Given the description of an element on the screen output the (x, y) to click on. 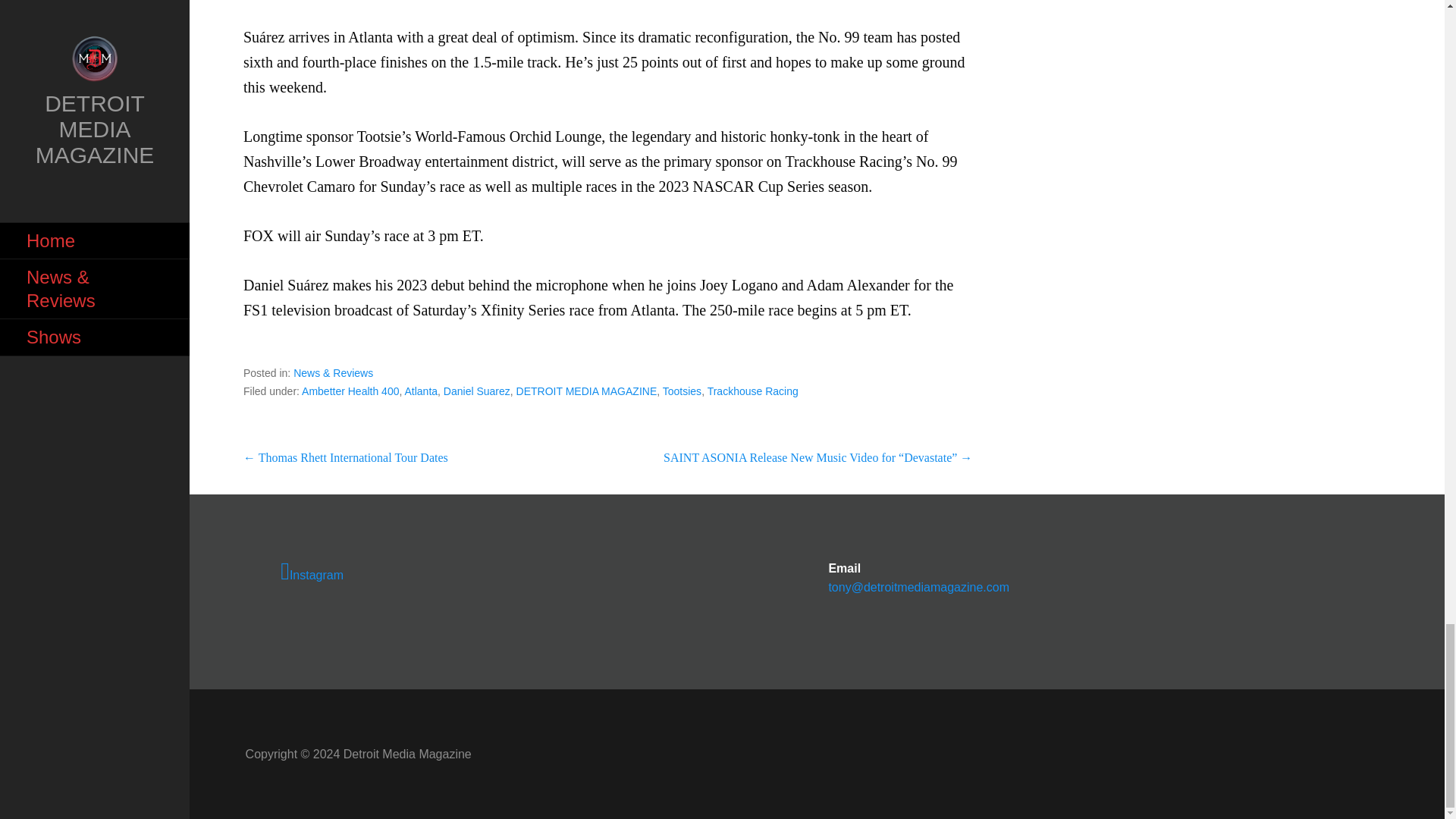
Tootsies (681, 390)
DETROIT MEDIA MAGAZINE (587, 390)
Ambetter Health 400 (349, 390)
Daniel Suarez (477, 390)
Instagram (520, 571)
Visit Detroit Media Magazine on Instagram (520, 571)
Trackhouse Racing (752, 390)
Atlanta (421, 390)
